Given the description of an element on the screen output the (x, y) to click on. 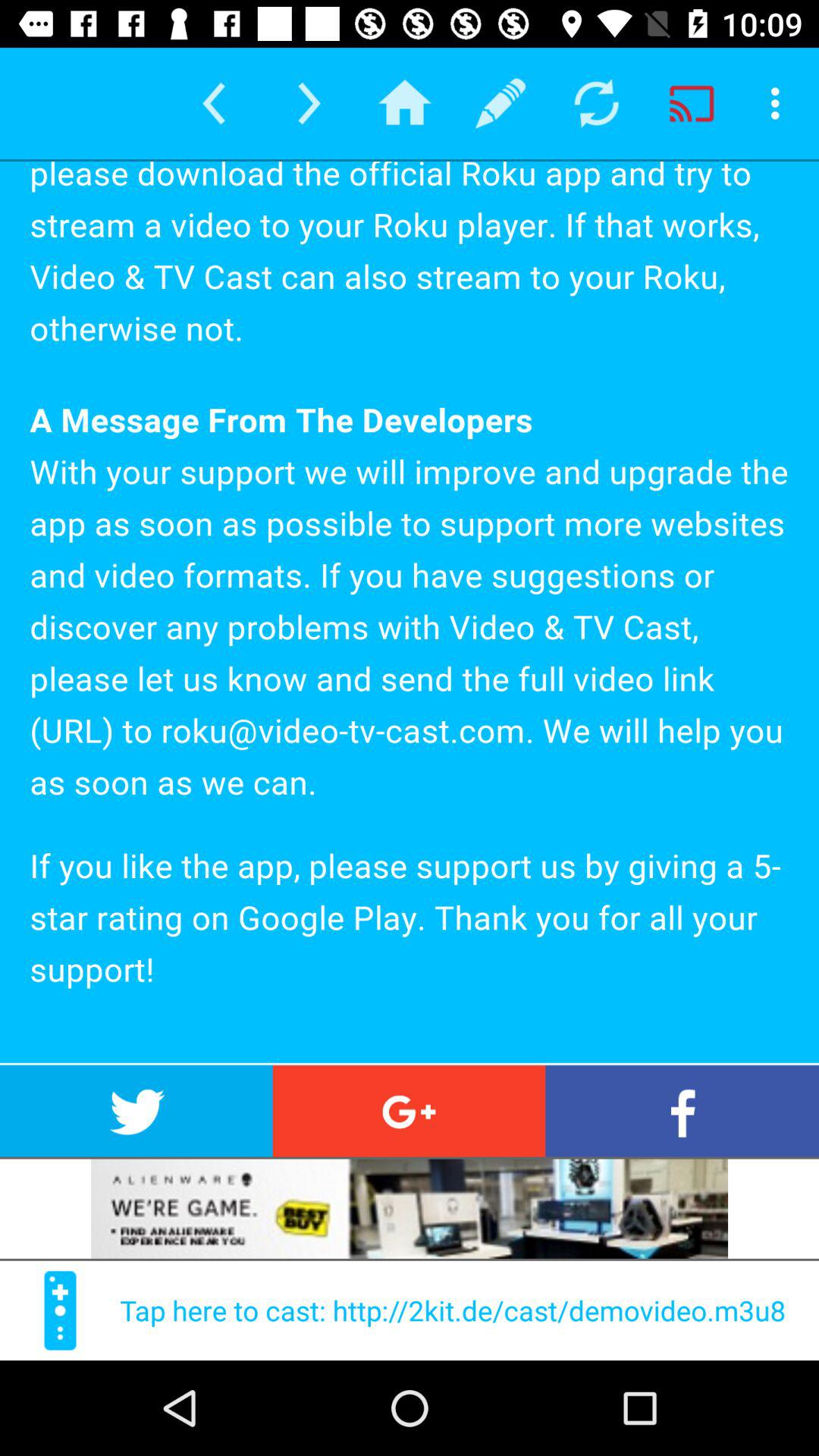
tap to cast (59, 1310)
